Given the description of an element on the screen output the (x, y) to click on. 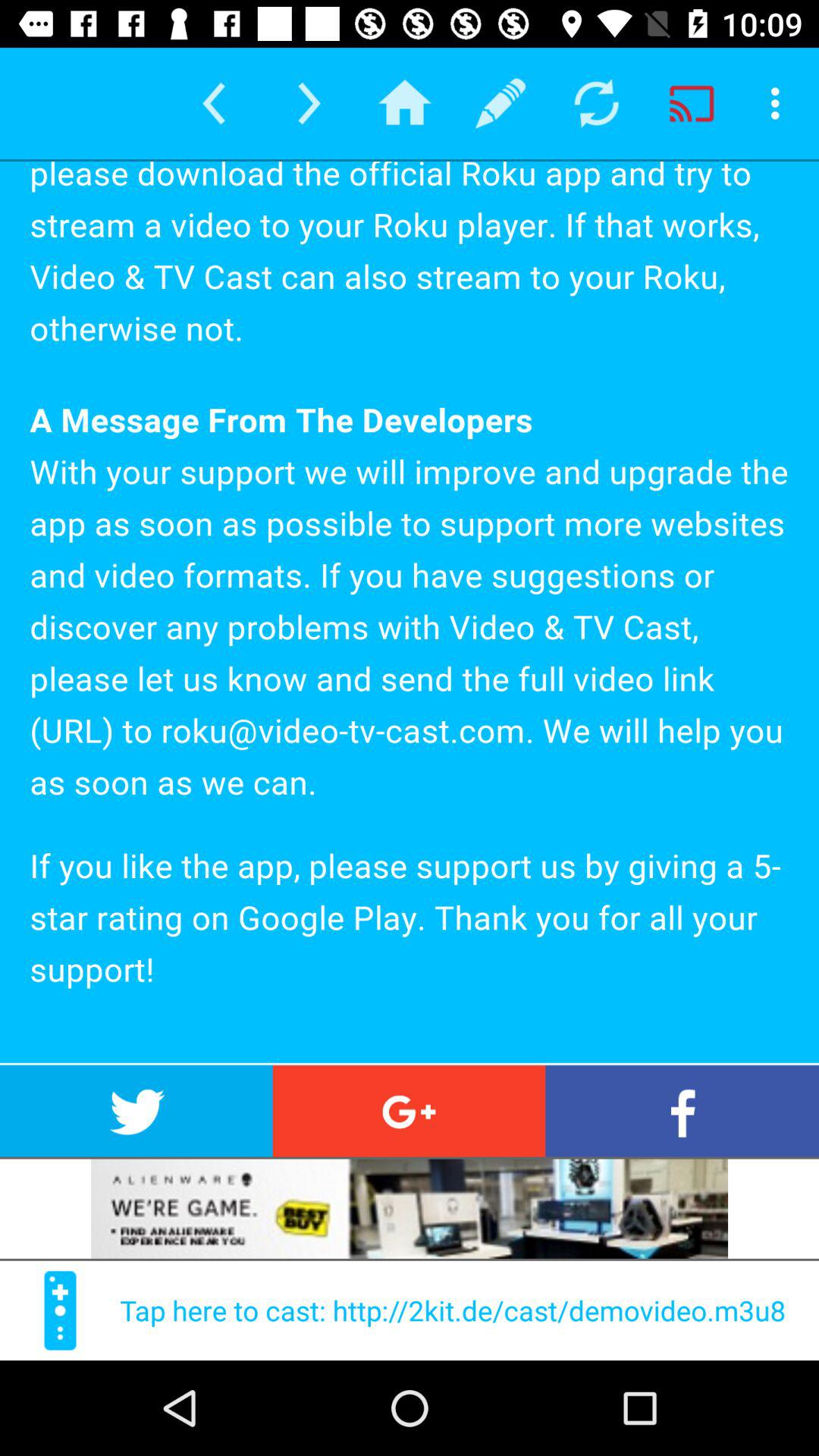
tap to cast (59, 1310)
